Given the description of an element on the screen output the (x, y) to click on. 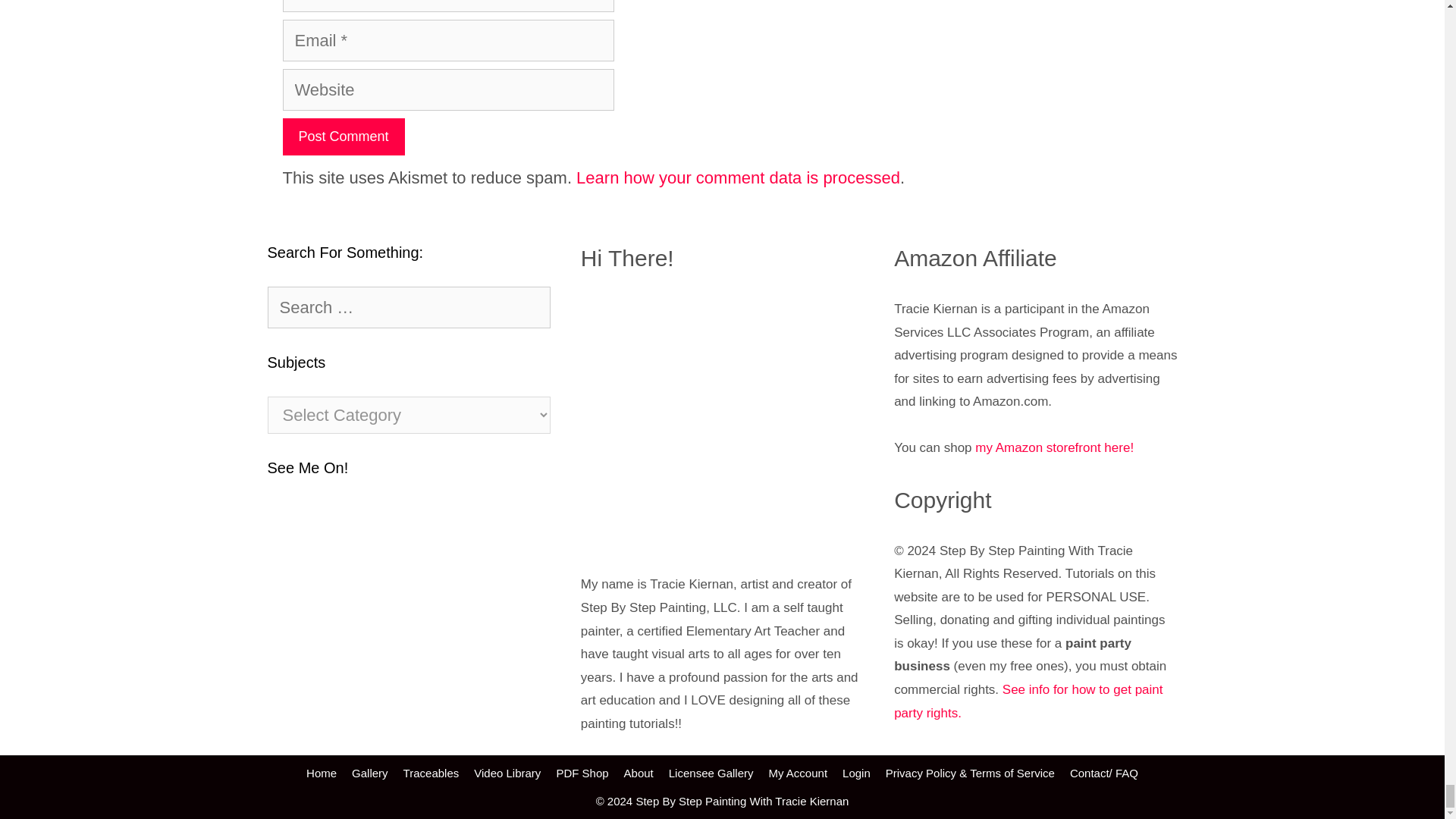
Search for: (408, 307)
Post Comment (343, 136)
